Given the description of an element on the screen output the (x, y) to click on. 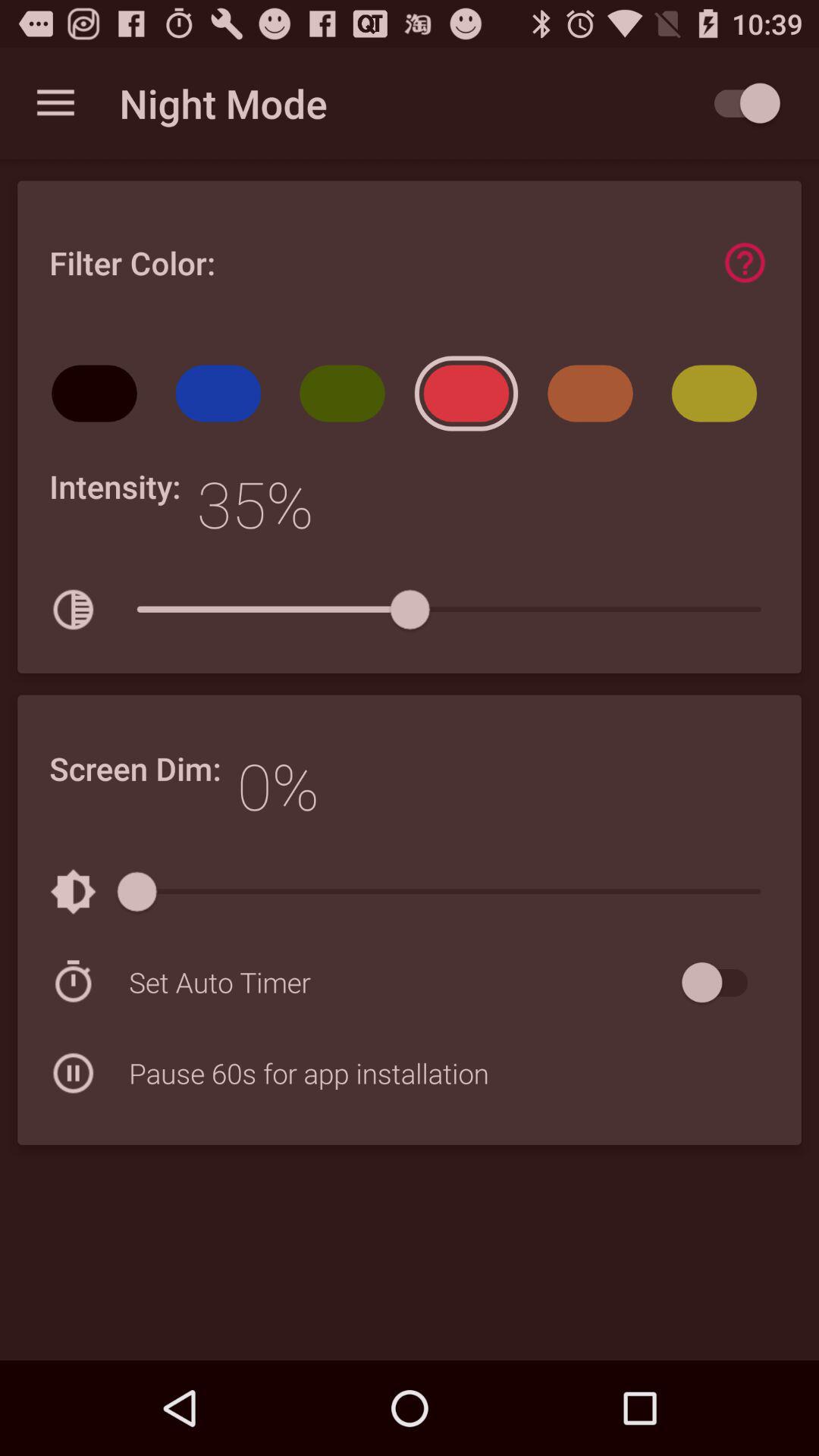
jump to set auto timer (402, 982)
